Given the description of an element on the screen output the (x, y) to click on. 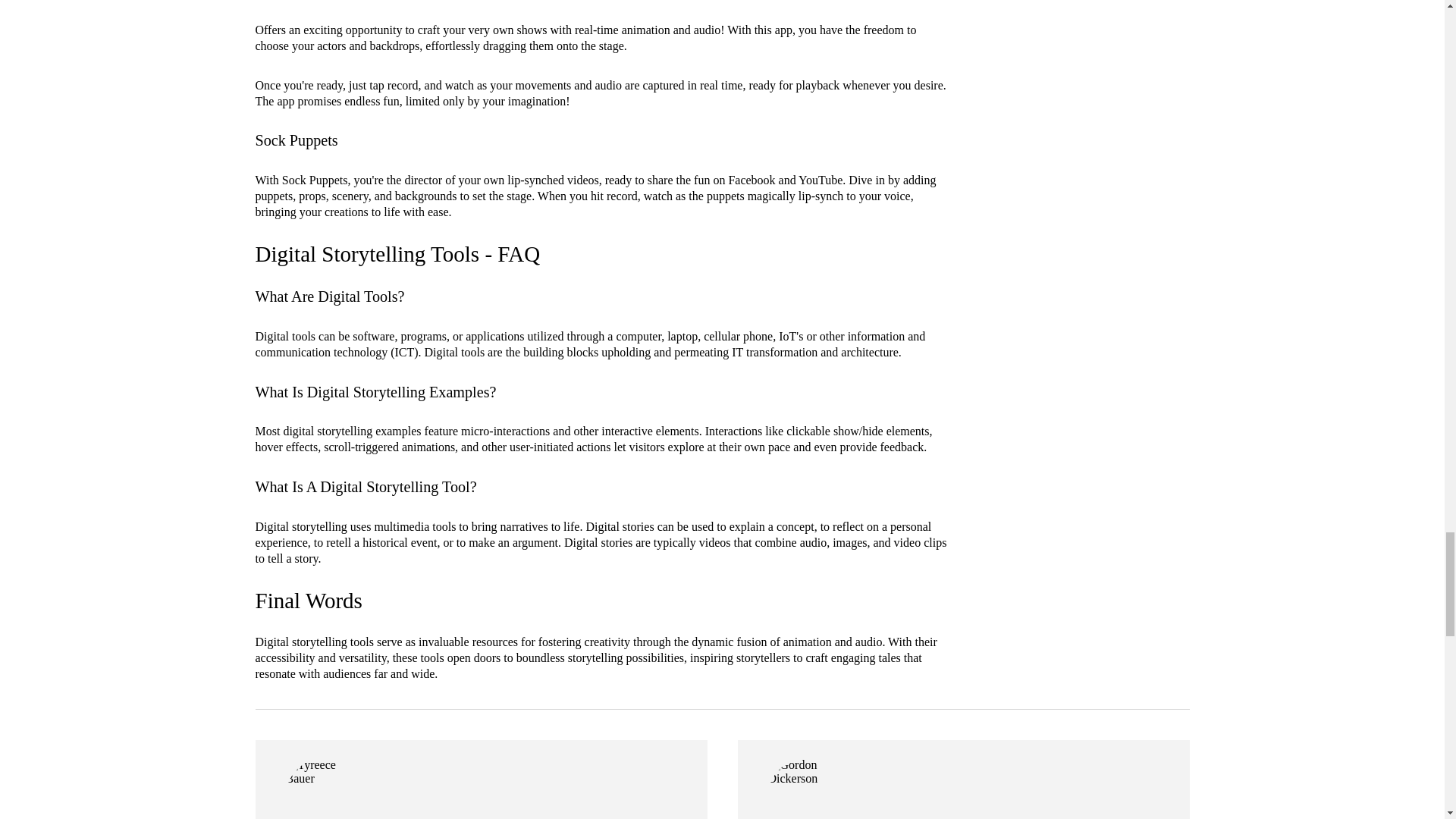
Sock Puppets (295, 139)
What Is Digital Storytelling Examples? (375, 392)
What Is A Digital Storytelling Tool? (365, 486)
What Are Digital Tools? (329, 296)
Final Words (307, 600)
Digital Storytelling Tools - FAQ (397, 253)
